Given the description of an element on the screen output the (x, y) to click on. 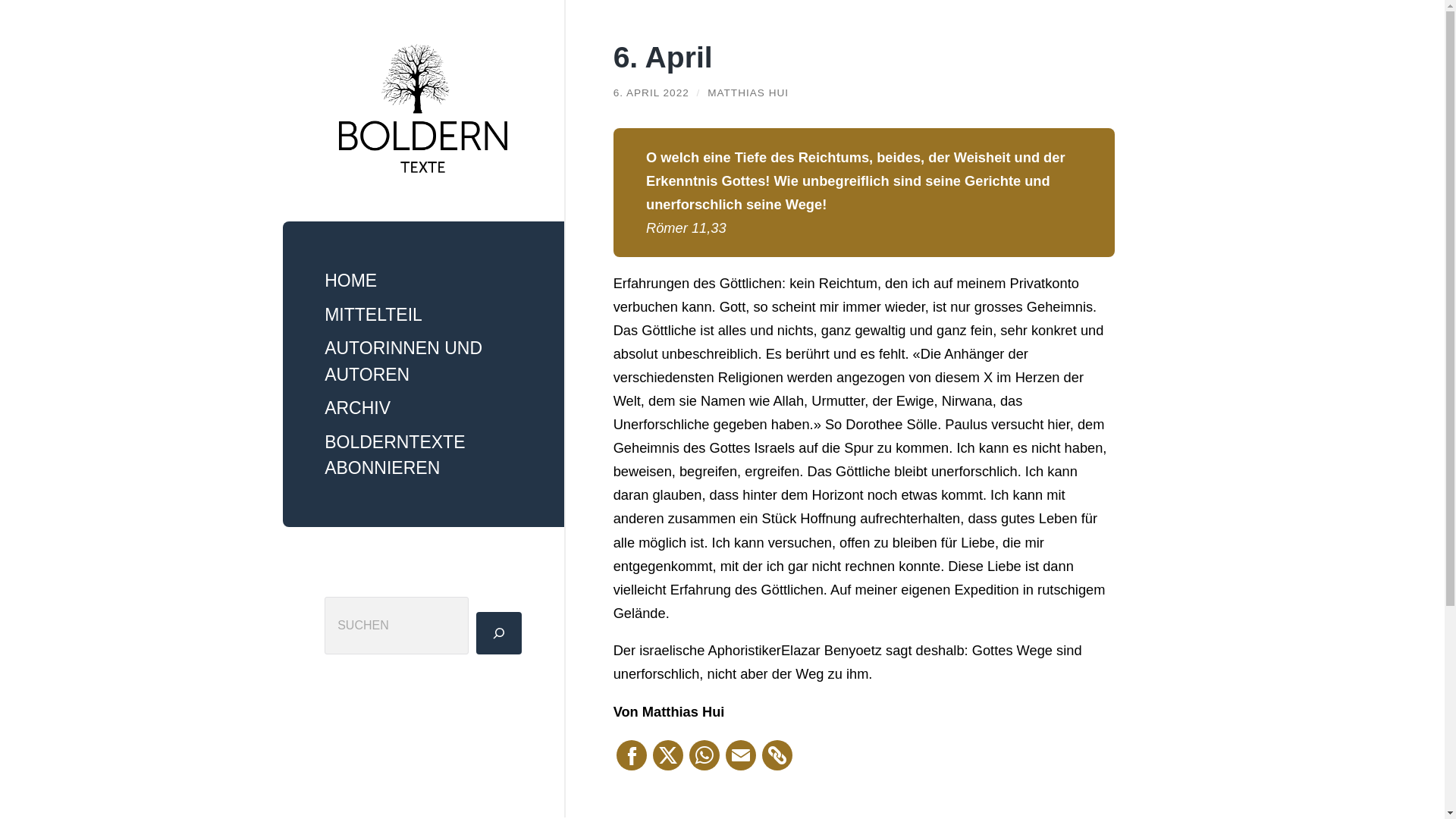
HOME Element type: text (422, 280)
Email This Element type: hover (740, 755)
6. APRIL 2022 Element type: text (651, 92)
Facebook Element type: hover (631, 755)
Copy Link Element type: hover (777, 755)
BOLDERNTEXTE ABONNIEREN Element type: text (422, 455)
MITTELTEIL Element type: text (422, 315)
ARCHIV Element type: text (422, 408)
WhatsApp Element type: hover (704, 755)
X (Twitter) Element type: hover (667, 755)
MATTHIAS HUI Element type: text (747, 92)
AUTORINNEN UND AUTOREN Element type: text (422, 361)
